Given the description of an element on the screen output the (x, y) to click on. 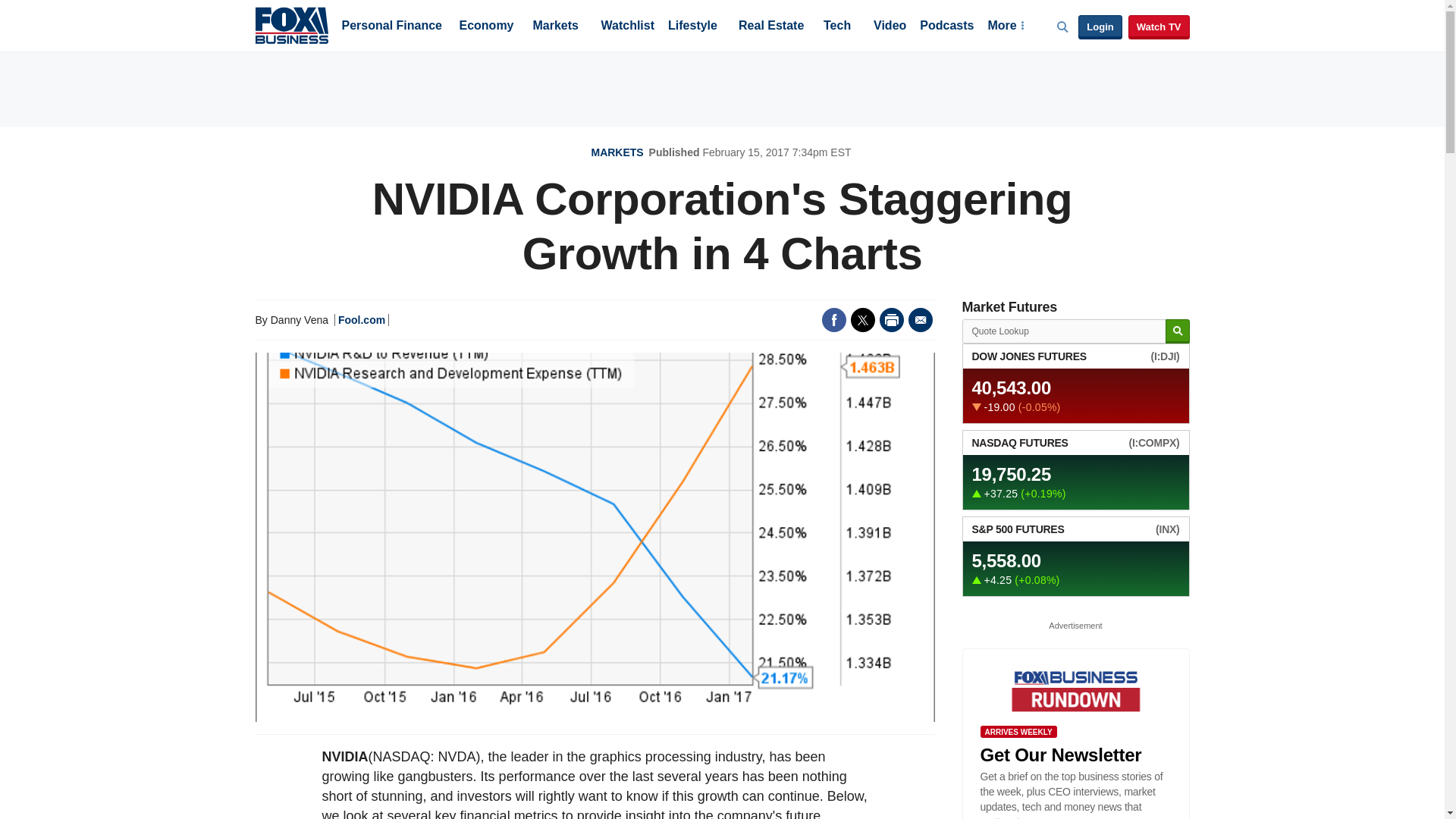
Watchlist (626, 27)
Personal Finance (391, 27)
Lifestyle (692, 27)
Tech (837, 27)
Search (1176, 331)
Fox Business (290, 24)
Login (1099, 27)
Economy (486, 27)
Watch TV (1158, 27)
Video (889, 27)
Search (1176, 331)
More (1005, 27)
Podcasts (947, 27)
Real Estate (770, 27)
Markets (555, 27)
